Given the description of an element on the screen output the (x, y) to click on. 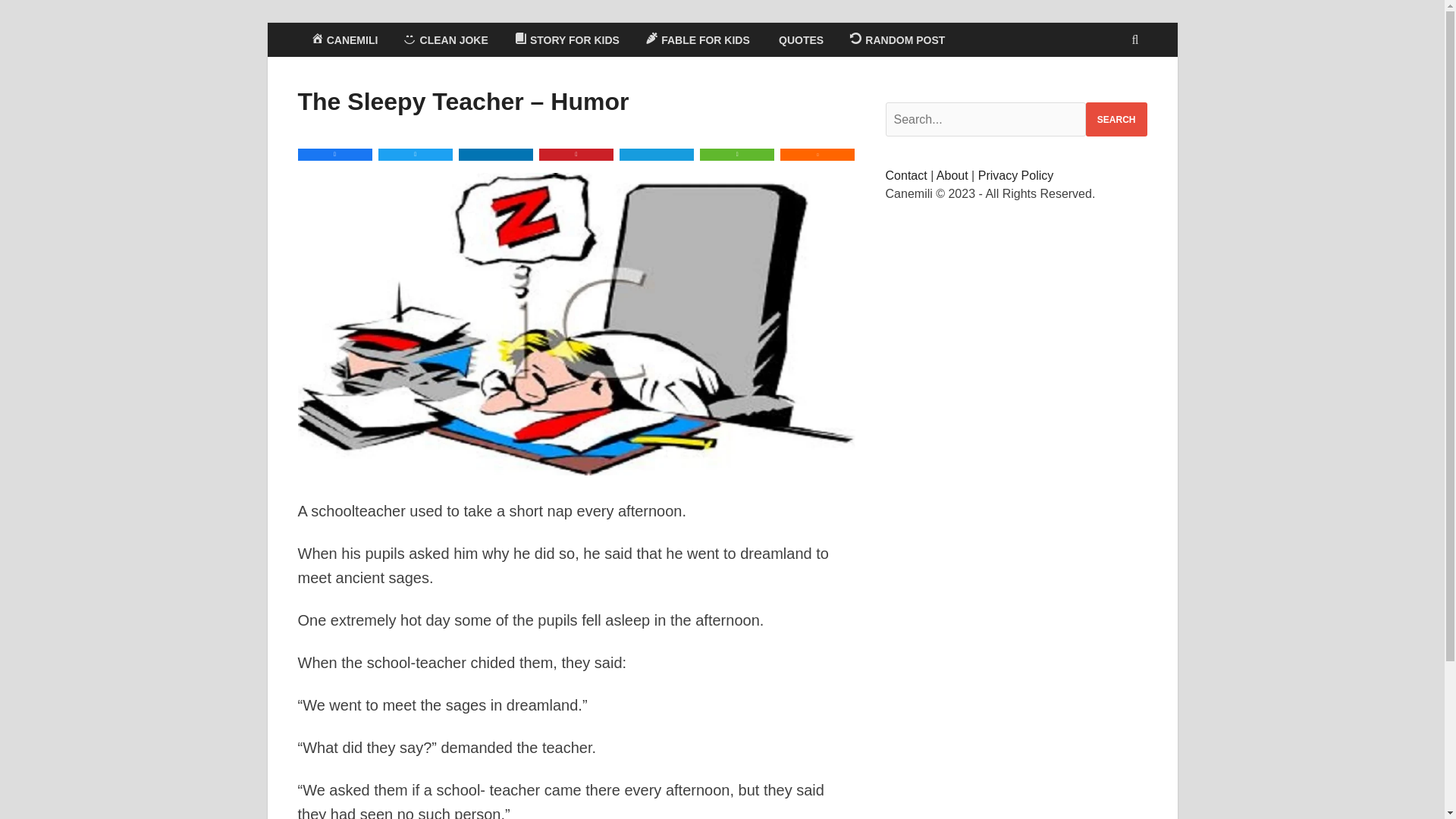
WhatsApp (737, 154)
CLEAN JOKE (445, 39)
More share links (817, 154)
QUOTES (798, 39)
Add this to LinkedIn (495, 154)
About (952, 174)
Tweet this ! (415, 154)
CANEMILI (343, 39)
Telegram (657, 154)
